Given the description of an element on the screen output the (x, y) to click on. 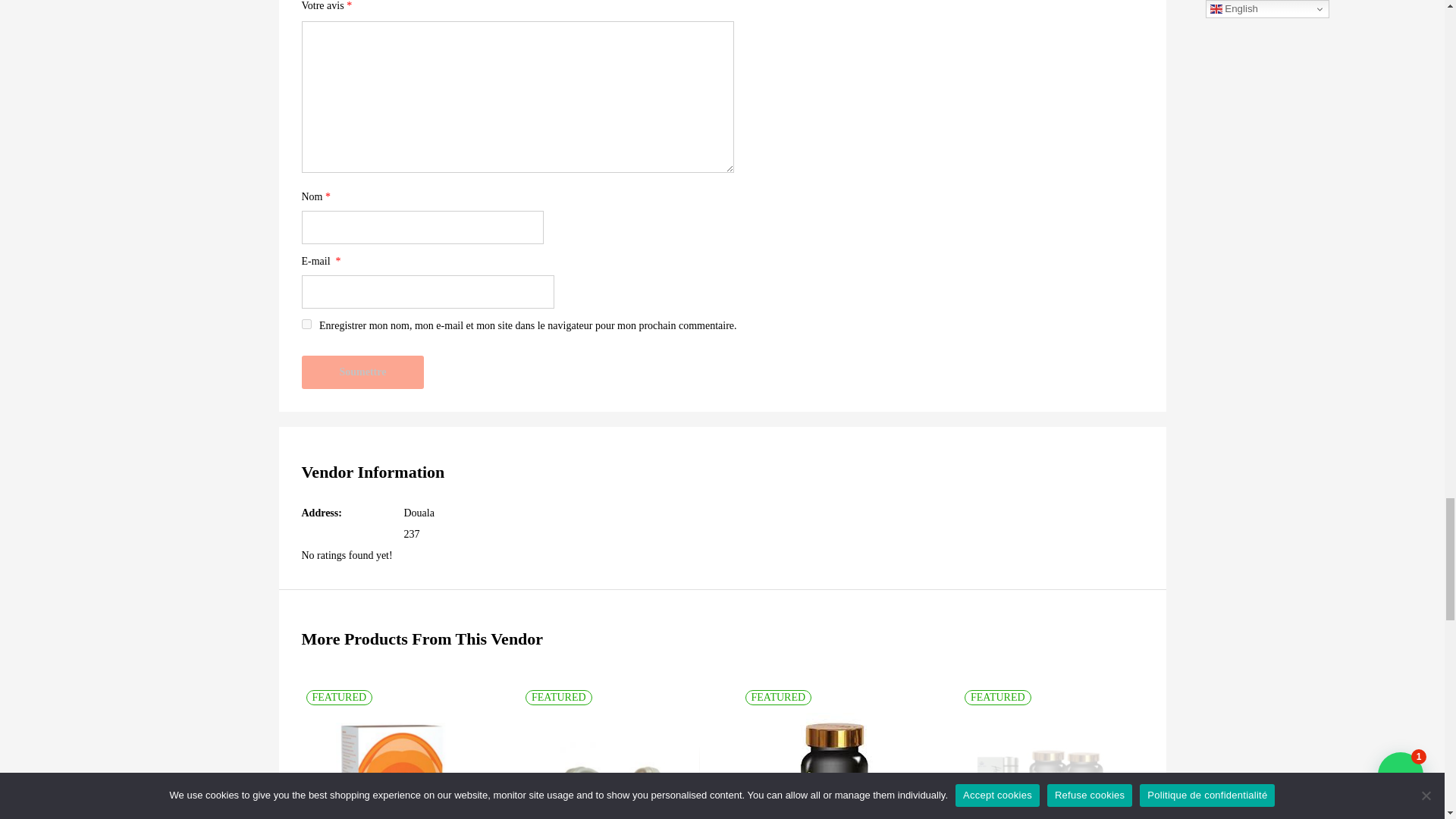
Soumettre (363, 372)
yes (306, 324)
